Given the description of an element on the screen output the (x, y) to click on. 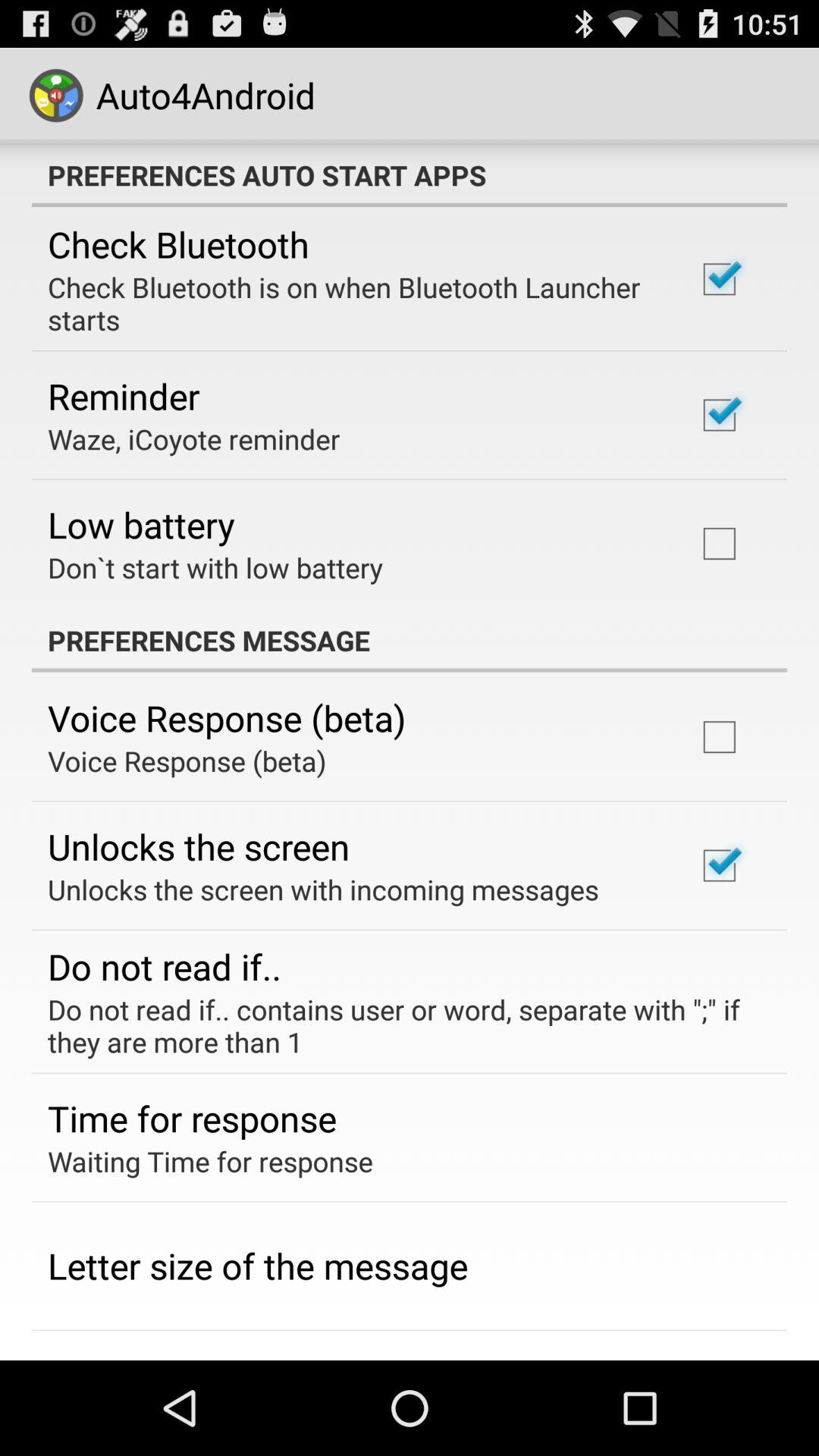
scroll to preferences message icon (409, 640)
